Given the description of an element on the screen output the (x, y) to click on. 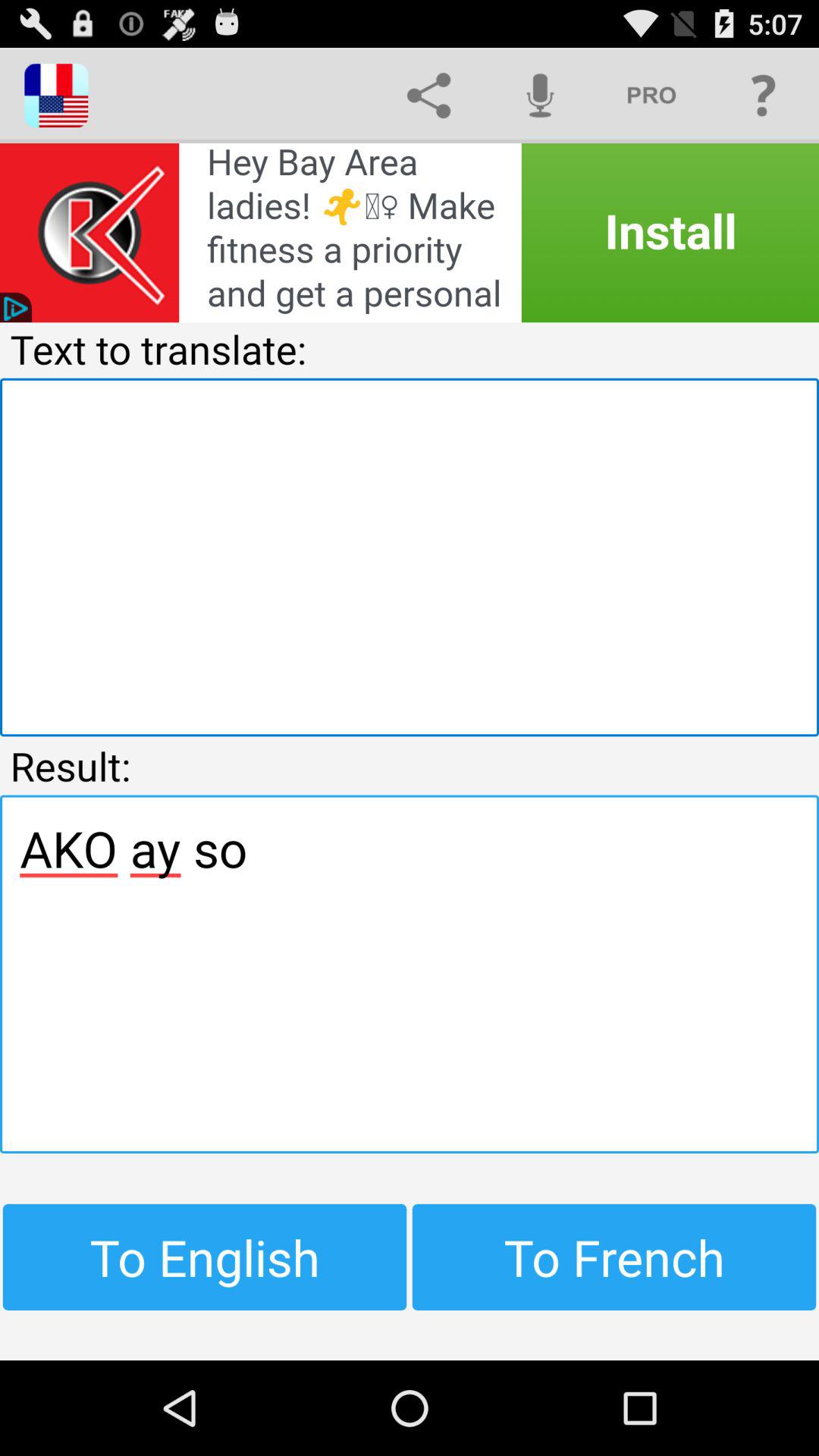
turn on item below ako ay so app (204, 1257)
